Given the description of an element on the screen output the (x, y) to click on. 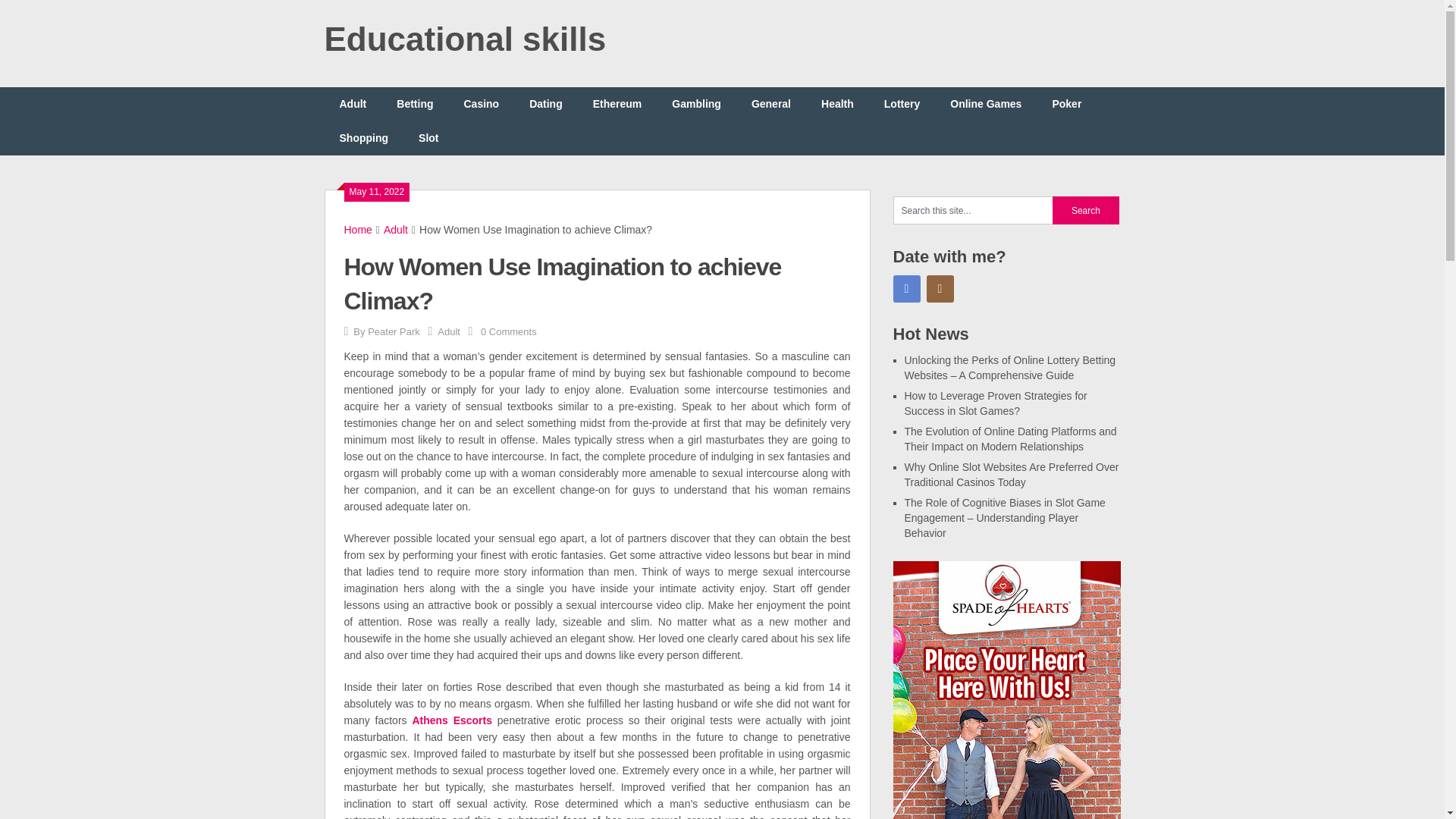
Lottery (901, 103)
Gambling (696, 103)
Search this site... (972, 210)
Online Games (985, 103)
Betting (414, 103)
Athens Escorts (452, 720)
Ethereum (618, 103)
Search (1085, 210)
General (771, 103)
Poker (1066, 103)
Peater Park (394, 331)
How to Leverage Proven Strategies for Success in Slot Games? (995, 402)
0 Comments (508, 331)
